Given the description of an element on the screen output the (x, y) to click on. 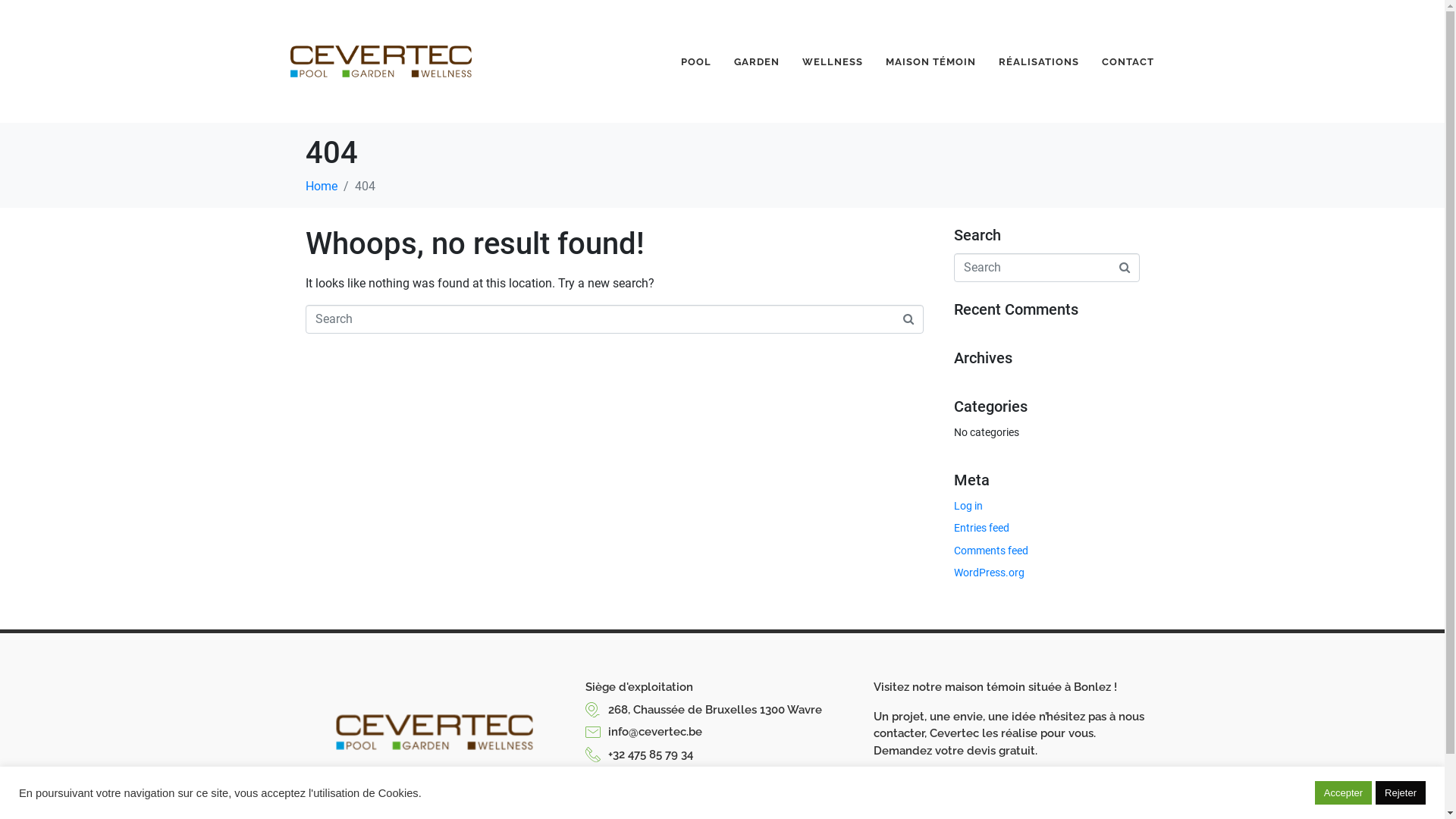
WordPress.org Element type: text (988, 572)
Log in Element type: text (967, 505)
Entries feed Element type: text (981, 527)
info@cevertec.be Element type: text (721, 731)
GARDEN Element type: text (756, 61)
CONTACT Element type: text (1127, 61)
+32 10 45 50 33 Element type: text (721, 776)
Comments feed Element type: text (990, 550)
Rejeter Element type: text (1400, 792)
Accepter Element type: text (1342, 792)
WELLNESS Element type: text (832, 61)
Home Element type: text (320, 185)
+32 475 85 79 34 Element type: text (721, 754)
POOL Element type: text (695, 61)
